Given the description of an element on the screen output the (x, y) to click on. 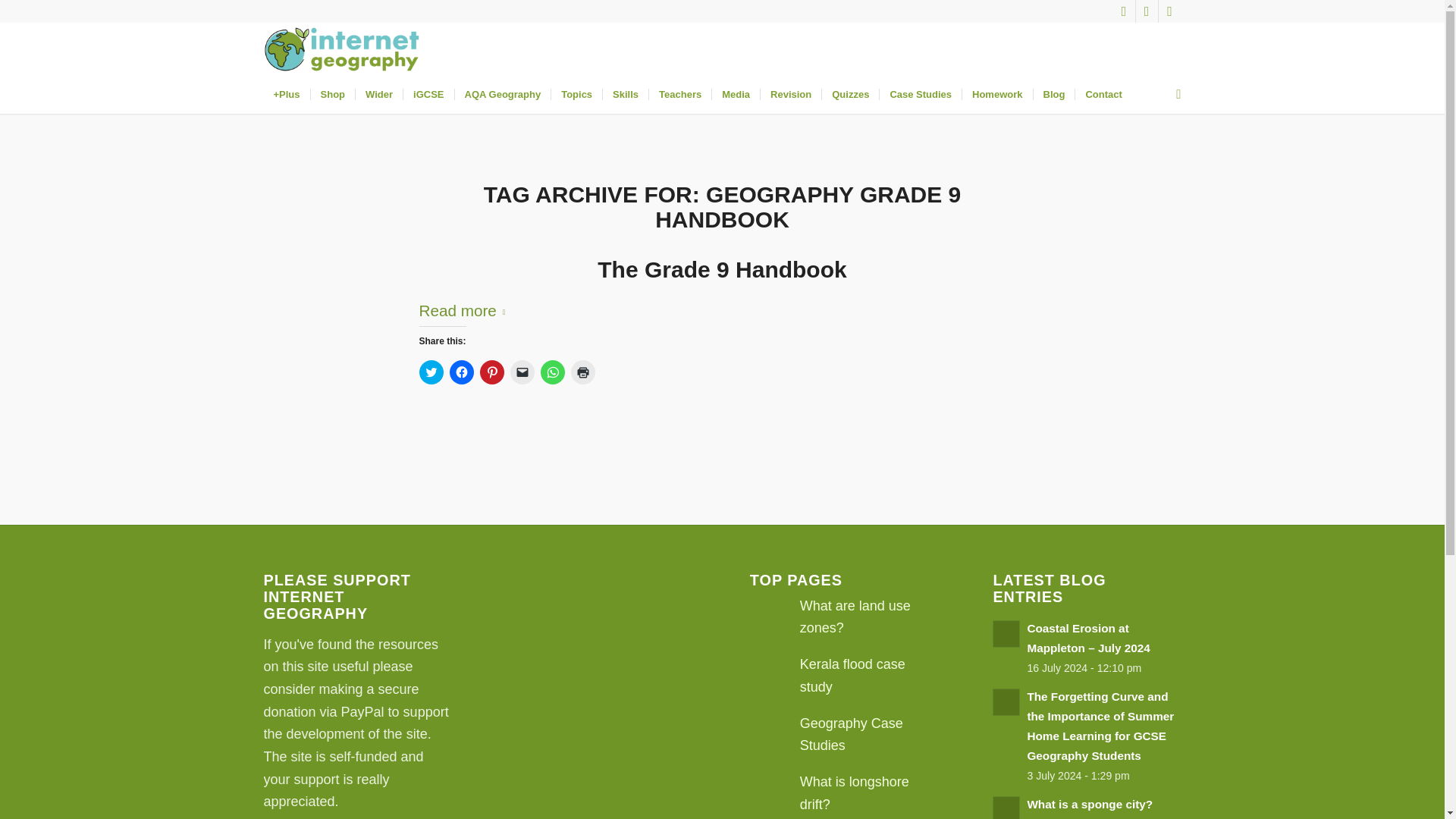
Click to share on Facebook (460, 372)
Click to email a link to a friend (521, 372)
Youtube (1169, 11)
Shop (332, 94)
Wider (379, 94)
Permanent Link: The Grade 9 Handbook (720, 269)
X (1124, 11)
iGCSE (427, 94)
Click to share on Twitter (430, 372)
Facebook (1146, 11)
